Given the description of an element on the screen output the (x, y) to click on. 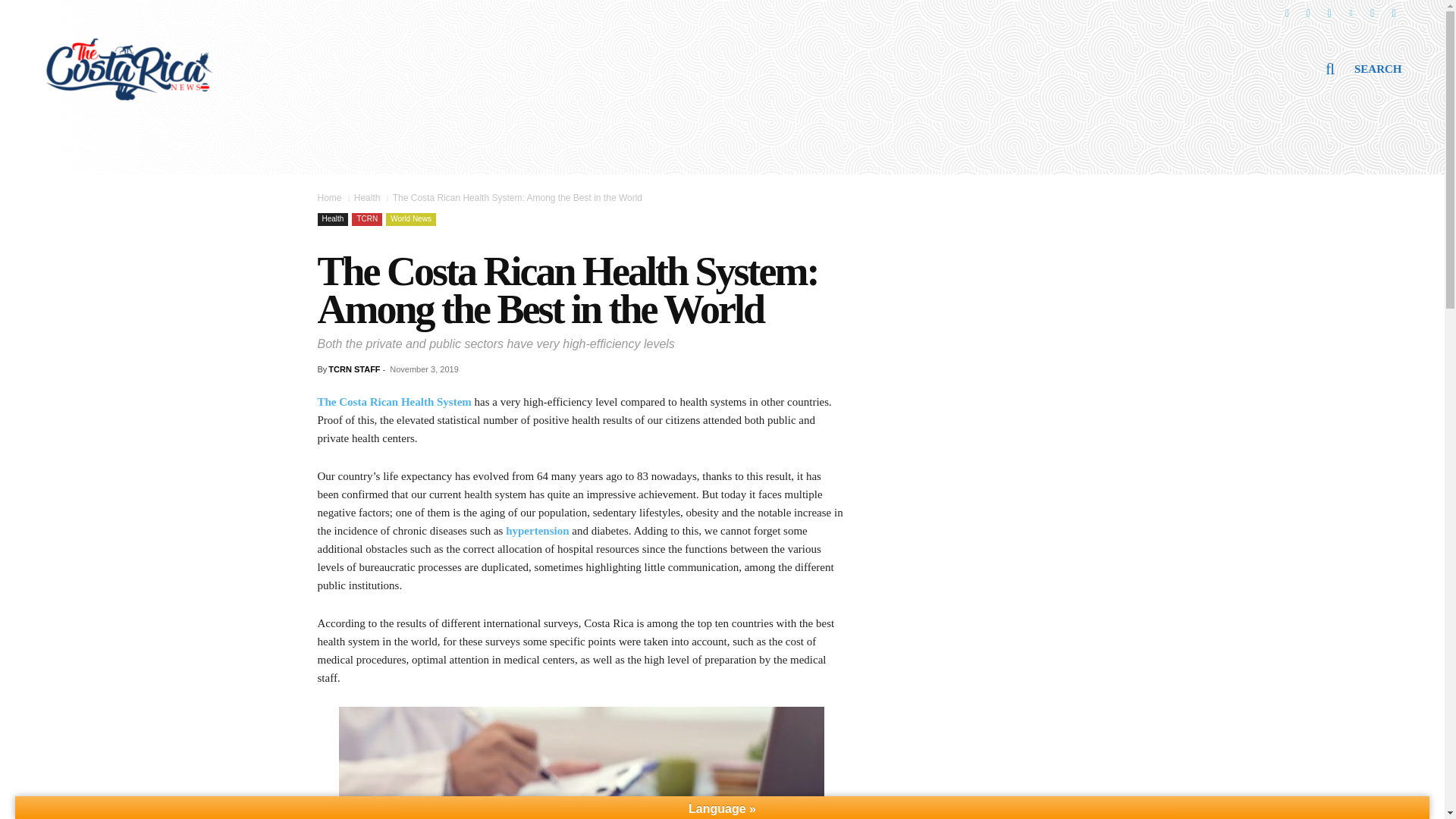
Twitter (1329, 10)
YouTube (1371, 10)
Paypal (1393, 10)
LinkedIn (1350, 10)
Facebook (1286, 10)
Instagram (1307, 10)
